Given the description of an element on the screen output the (x, y) to click on. 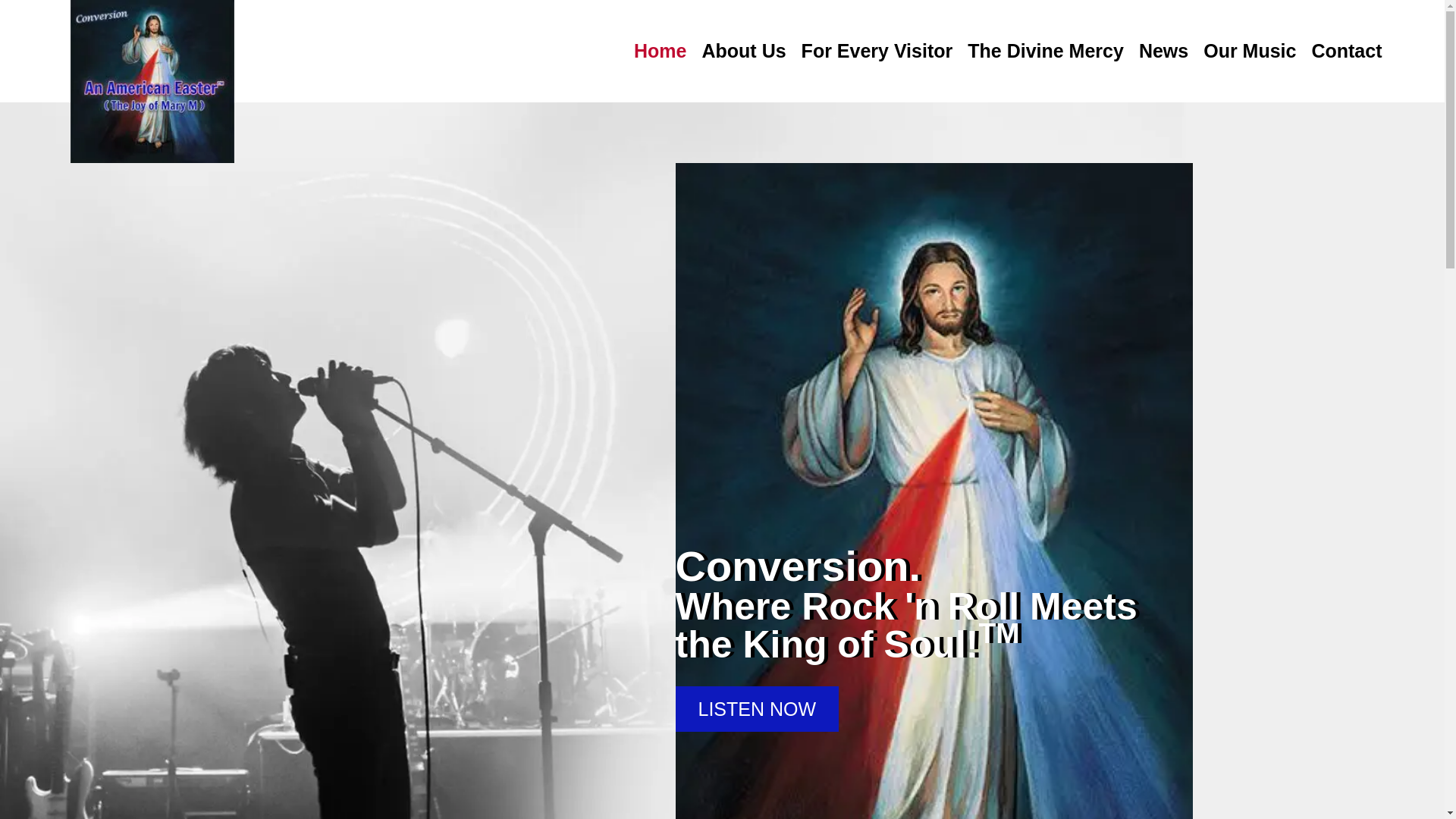
Contact (1346, 50)
Home (659, 50)
About Us (743, 50)
News (1163, 50)
The Divine Mercy (1046, 50)
Conversion (150, 81)
For Every Visitor (877, 50)
Our Music (1249, 50)
LISTEN NOW (756, 709)
